Given the description of an element on the screen output the (x, y) to click on. 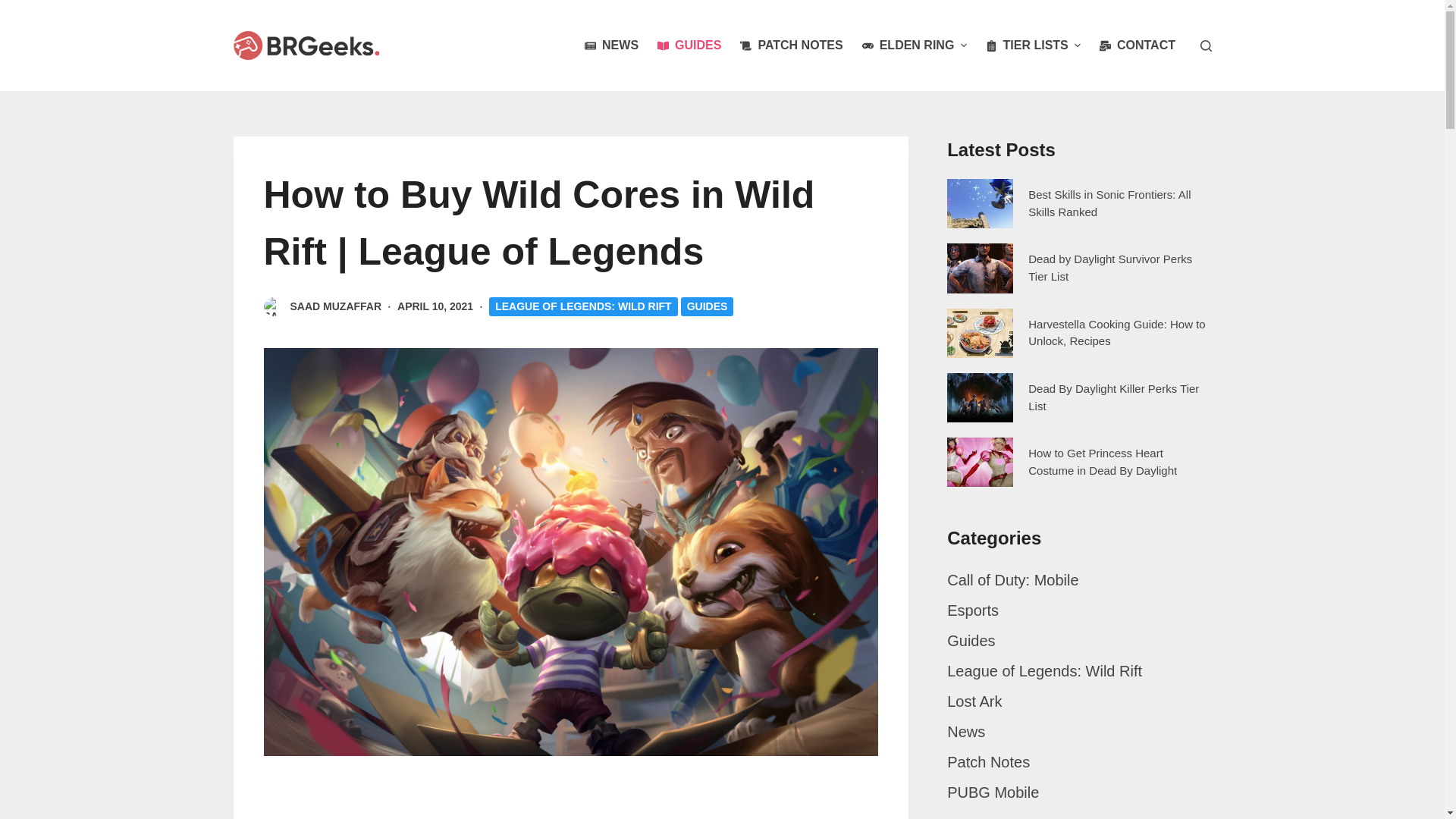
GUIDES (688, 45)
Skip to content (15, 7)
PATCH NOTES (790, 45)
ELDEN RING (913, 45)
Posts by Saad Muzaffar (335, 306)
